Given the description of an element on the screen output the (x, y) to click on. 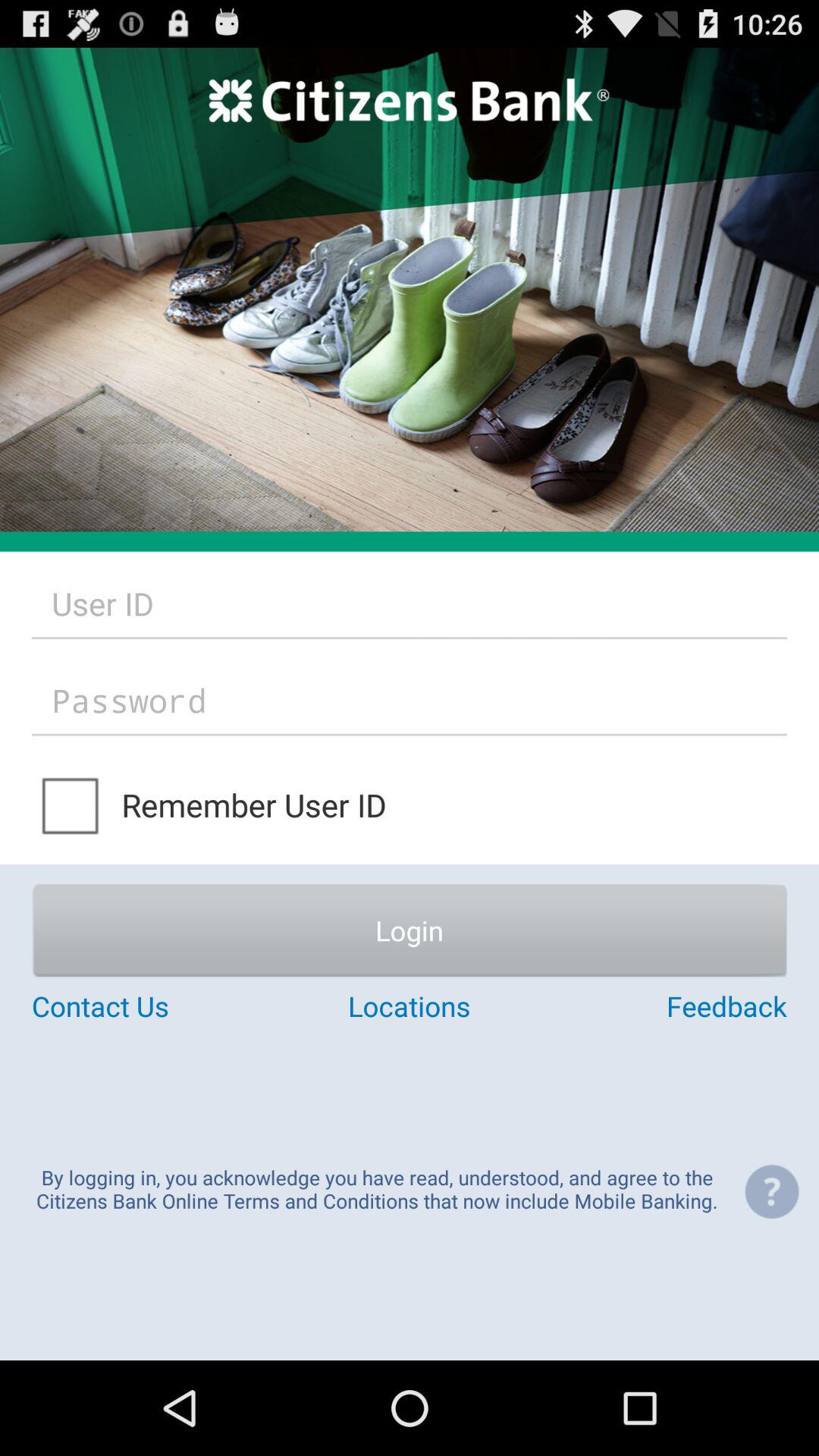
turn on item below login button (409, 1005)
